Given the description of an element on the screen output the (x, y) to click on. 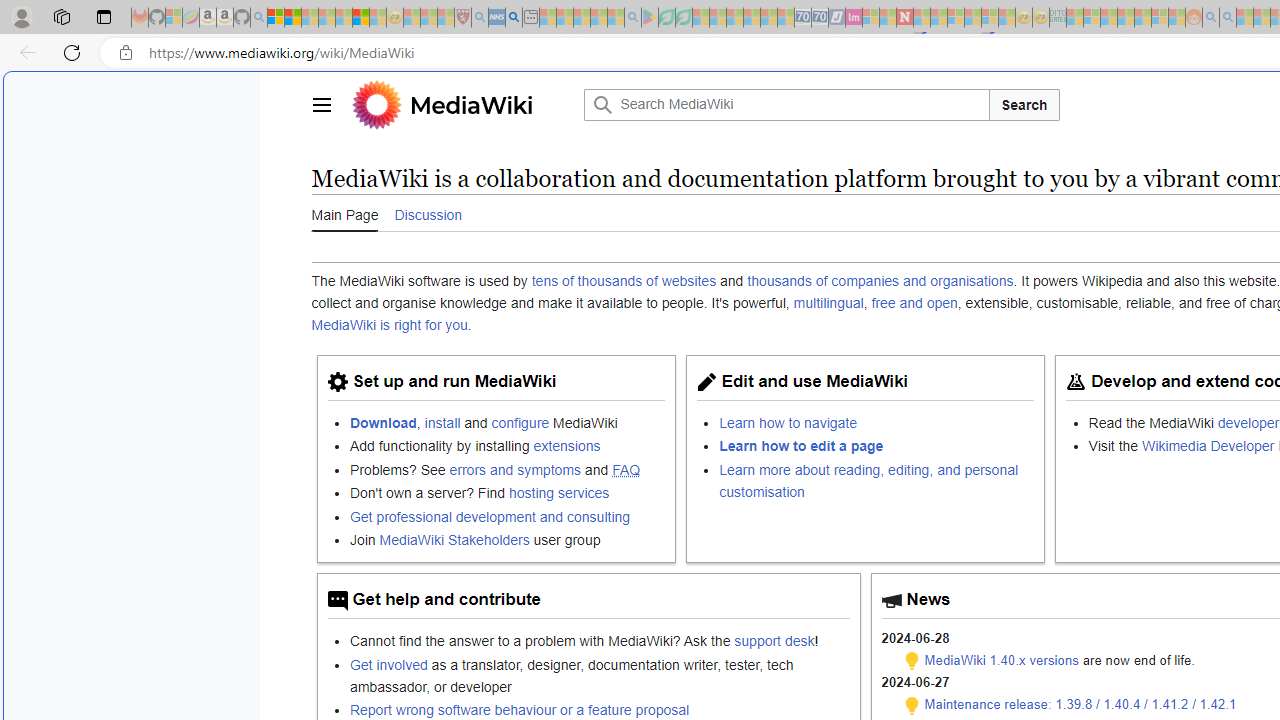
Download, install and configure MediaWiki (507, 422)
